Given the description of an element on the screen output the (x, y) to click on. 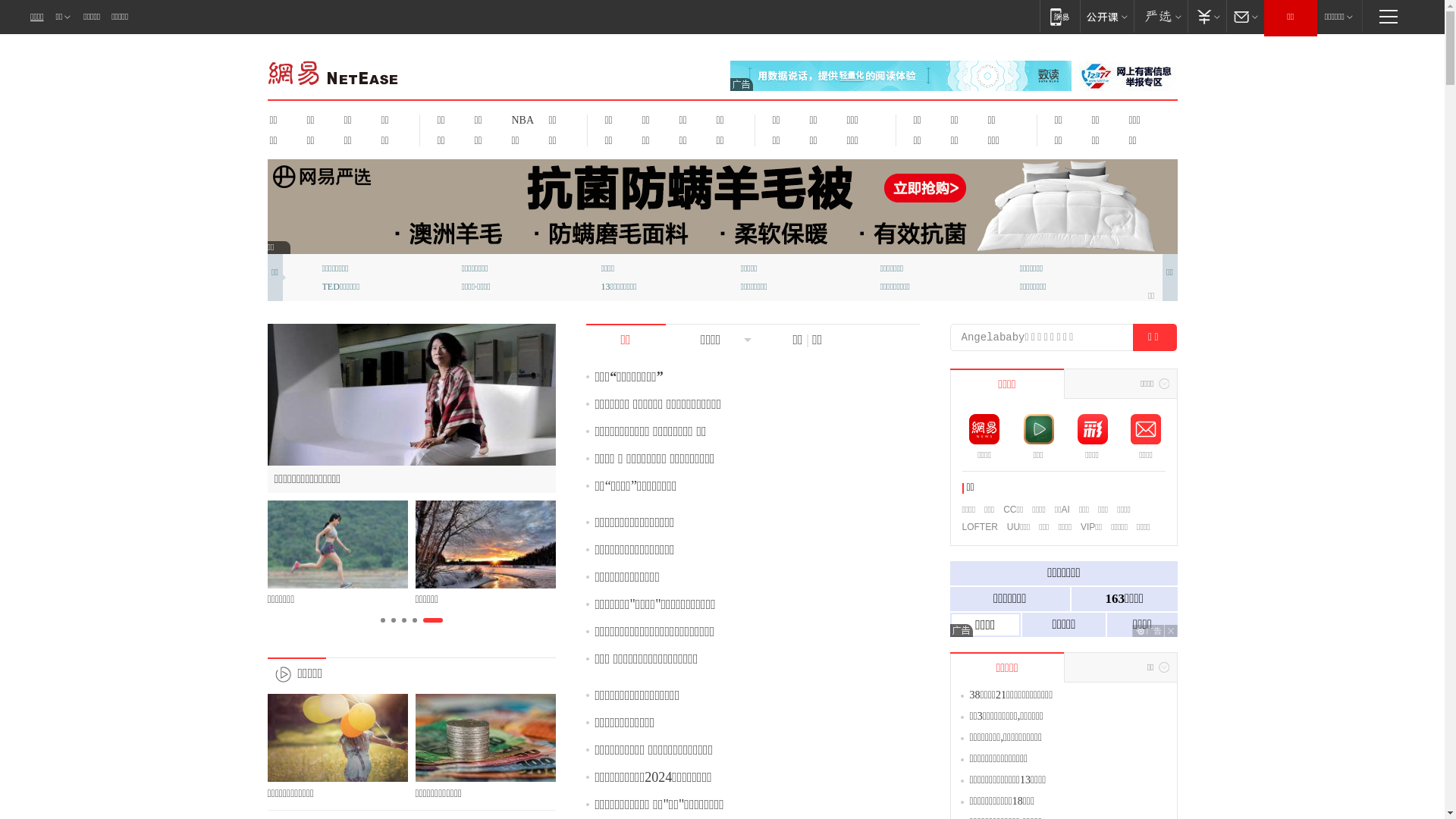
NBA Element type: text (520, 119)
LOFTER Element type: text (979, 526)
